Given the description of an element on the screen output the (x, y) to click on. 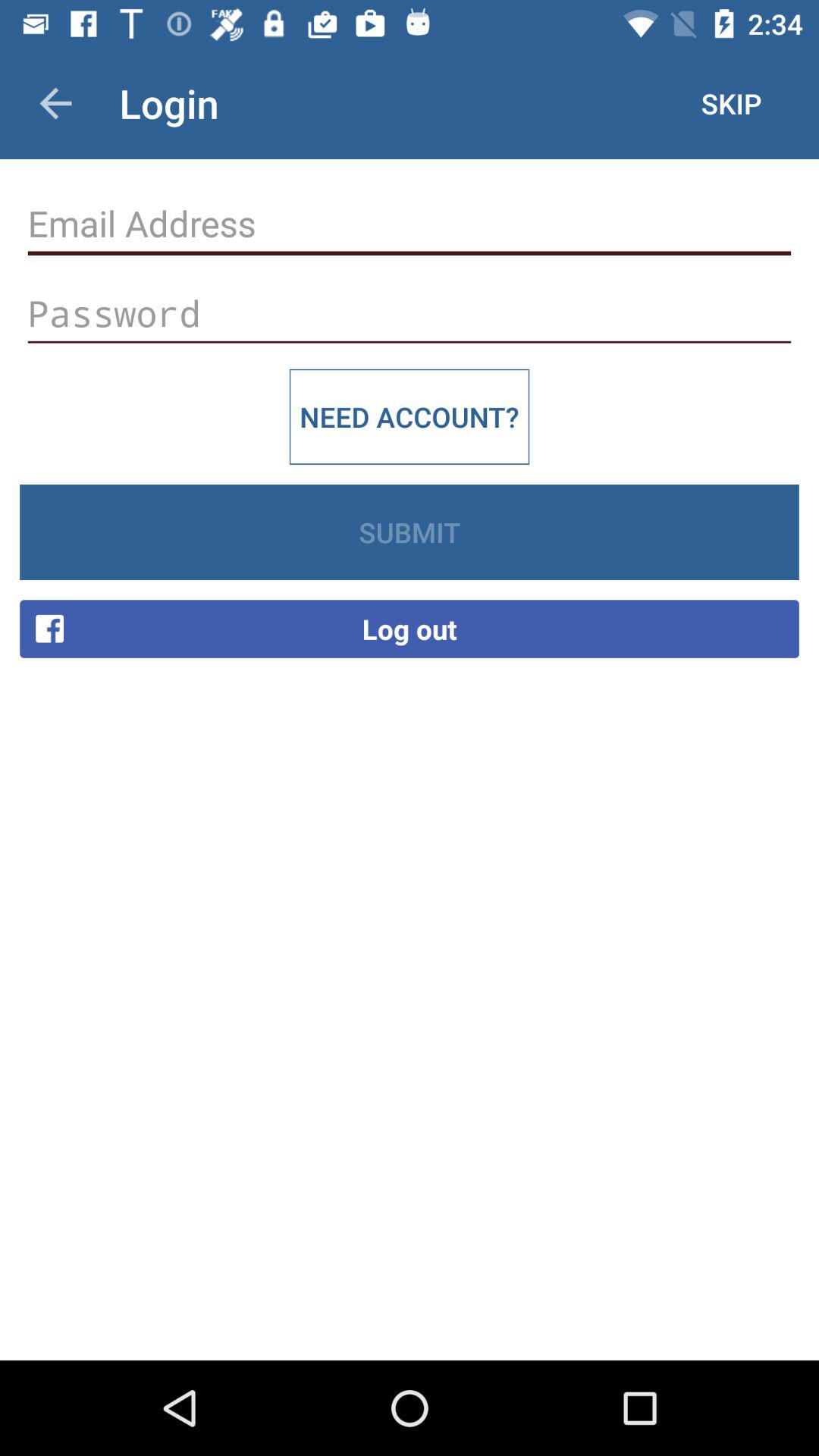
swipe to the log out icon (409, 629)
